Given the description of an element on the screen output the (x, y) to click on. 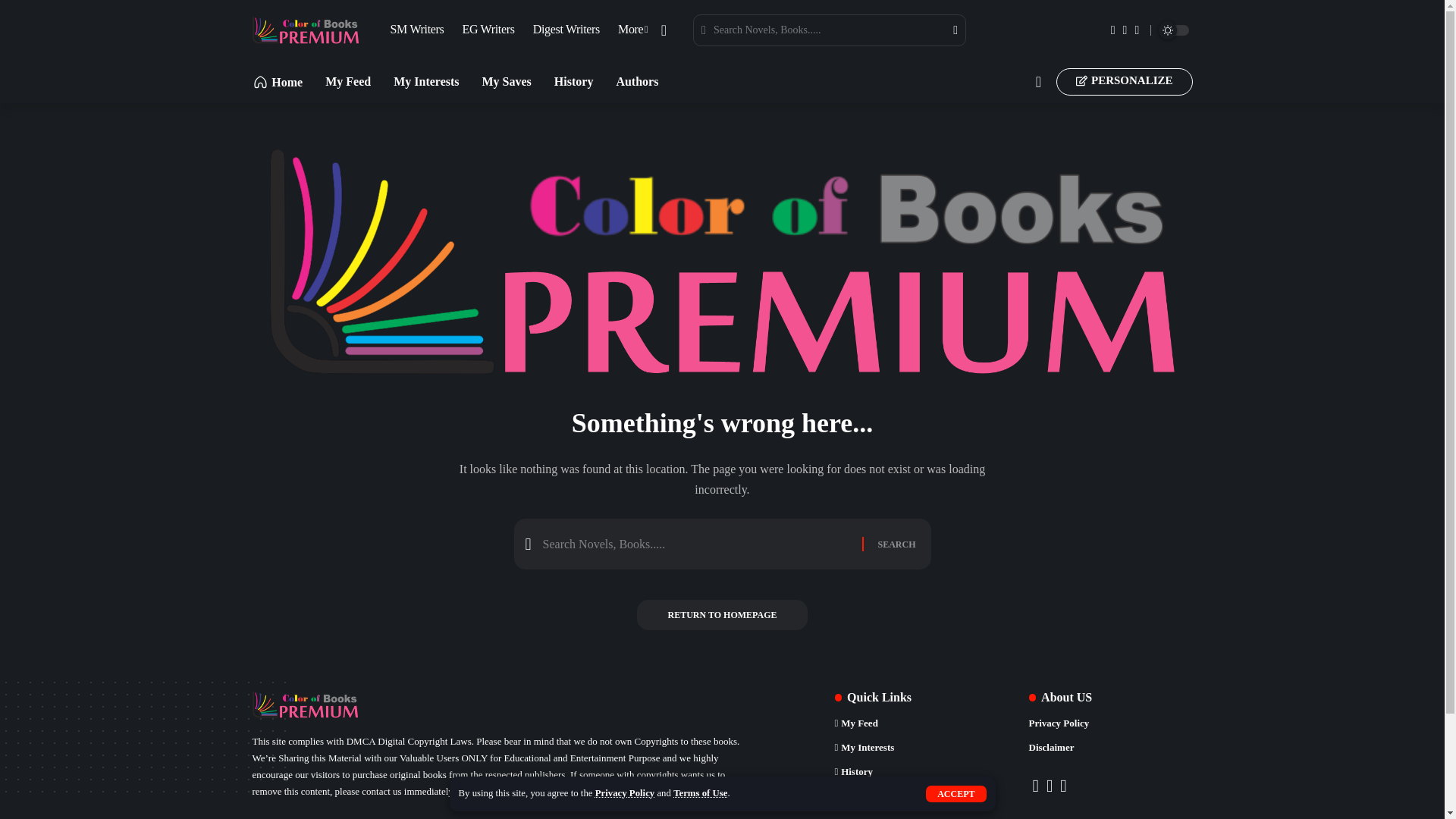
SM Writers (416, 30)
Privacy Policy (625, 792)
My Feed (347, 81)
More (633, 30)
Search (895, 543)
EG Writers (487, 30)
My Saves (506, 81)
PERSONALIZE (1124, 81)
Terms of Use (699, 792)
Home (276, 82)
Search (946, 30)
My Interests (425, 81)
ACCEPT (955, 793)
History (574, 81)
Authors (636, 81)
